Given the description of an element on the screen output the (x, y) to click on. 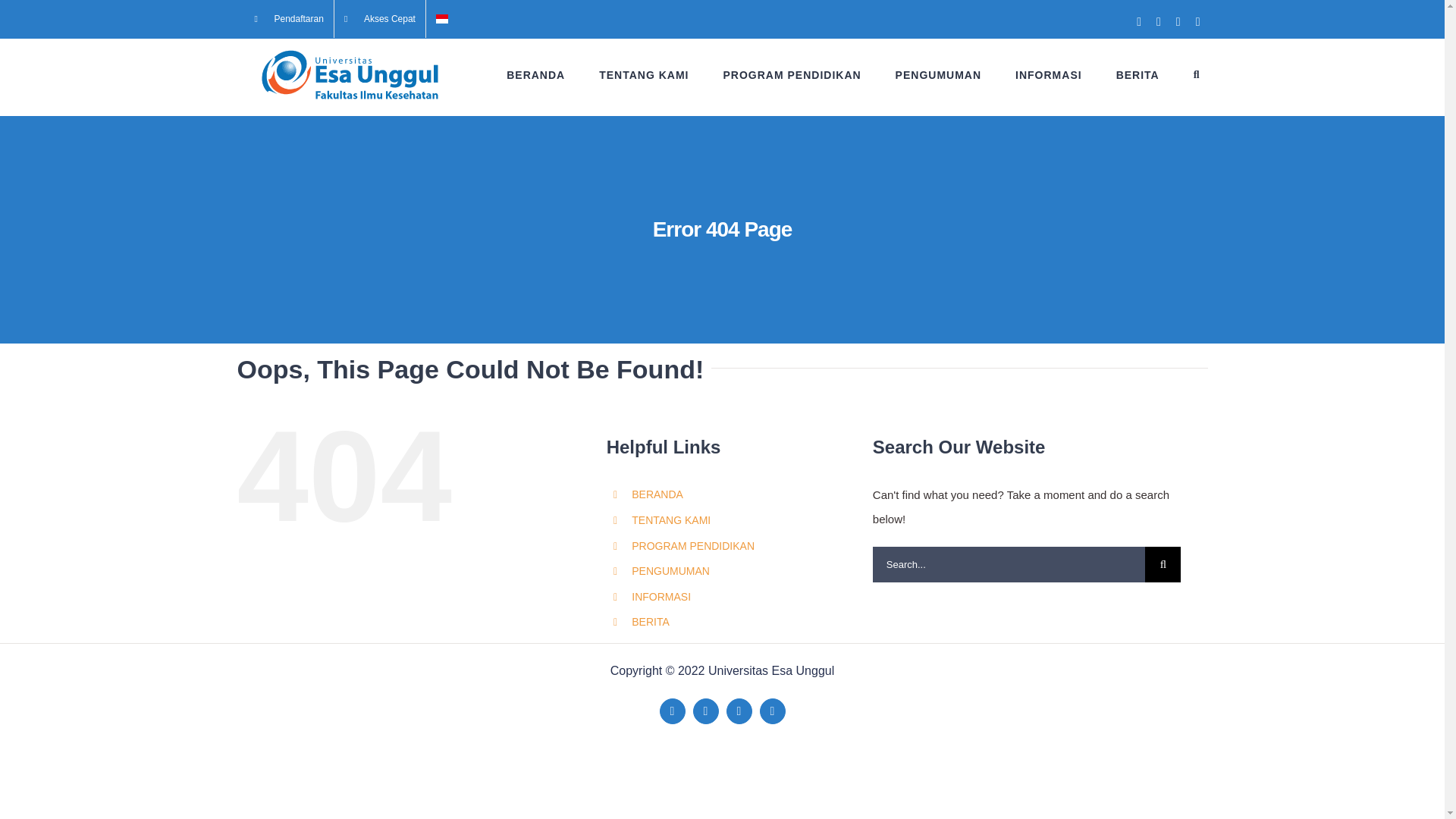
Facebook (672, 710)
Instagram (773, 710)
Akses Cepat (379, 18)
TENTANG KAMI (643, 74)
PROGRAM PENDIDIKAN (791, 74)
Twitter (706, 710)
Pendaftaran (288, 18)
YouTube (739, 710)
